Given the description of an element on the screen output the (x, y) to click on. 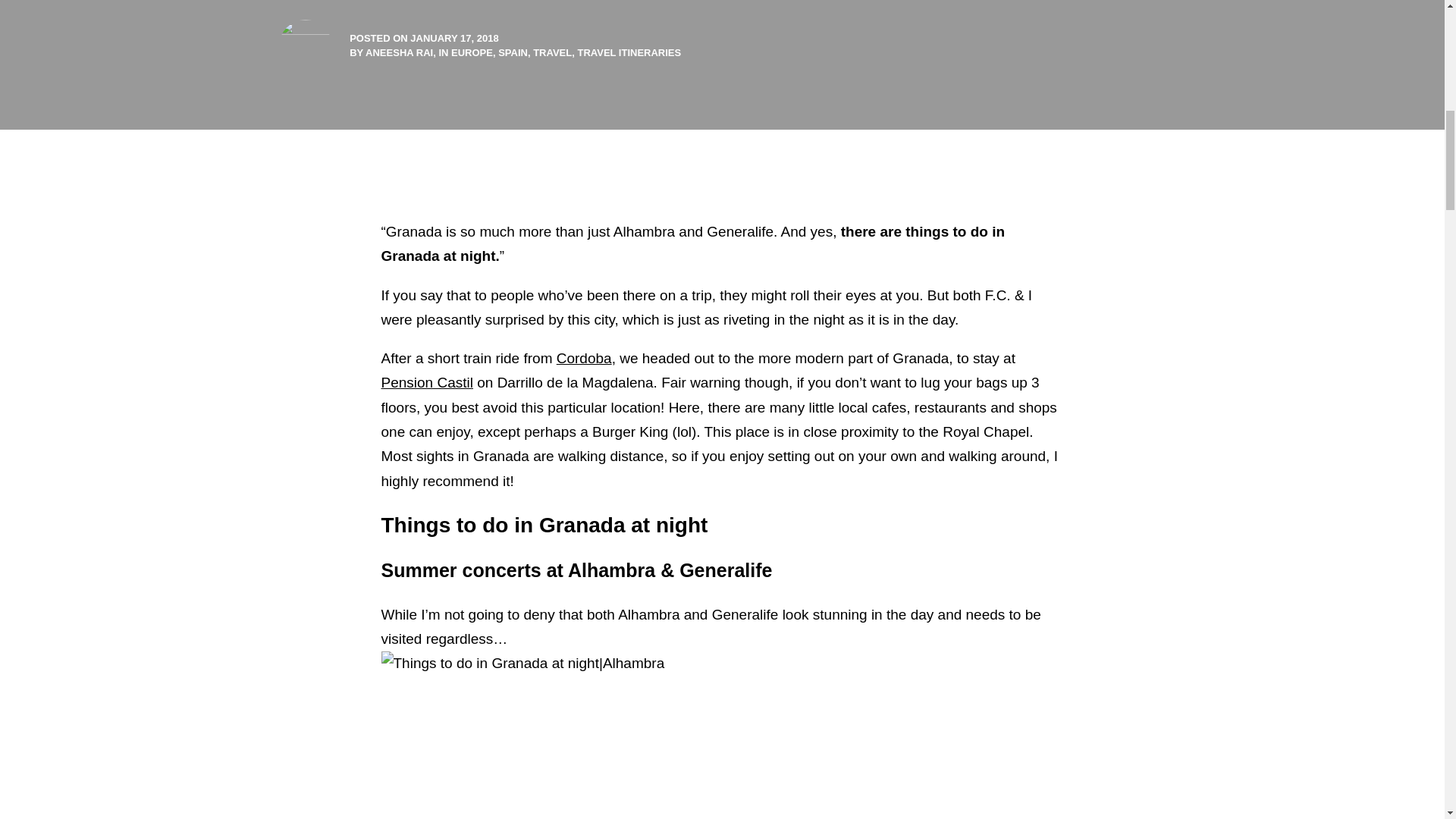
ANEESHA RAI (398, 52)
Cordoba (583, 358)
Pension Castil (425, 382)
TRAVEL ITINERARIES (628, 52)
SPAIN (512, 52)
EUROPE (472, 52)
JANUARY 17, 2018 (453, 38)
TRAVEL (552, 52)
